Given the description of an element on the screen output the (x, y) to click on. 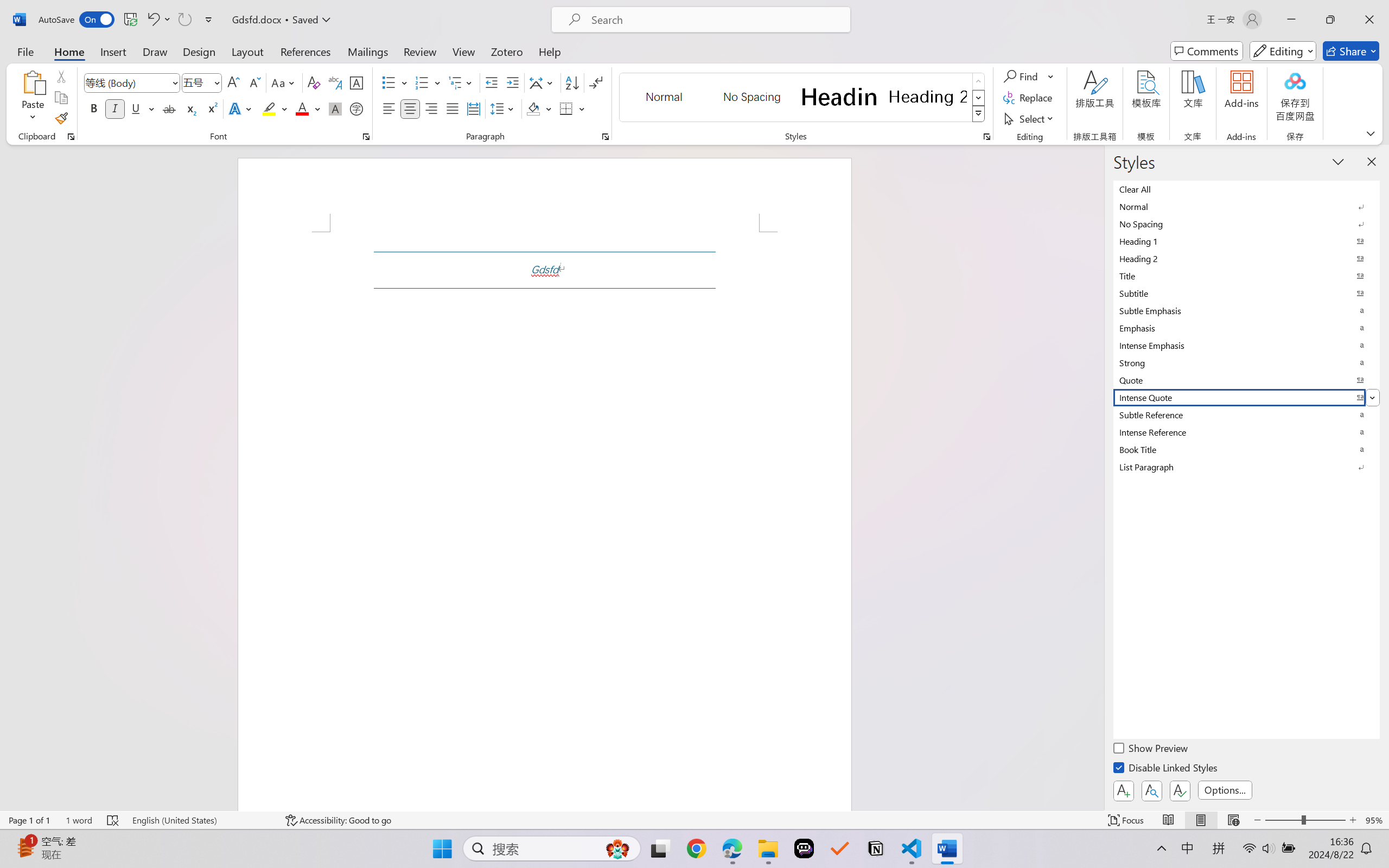
Copy (60, 97)
Font Color Red (302, 108)
Row Down (978, 97)
Subtitle (1246, 293)
Styles... (986, 136)
Text Highlight Color (274, 108)
